Given the description of an element on the screen output the (x, y) to click on. 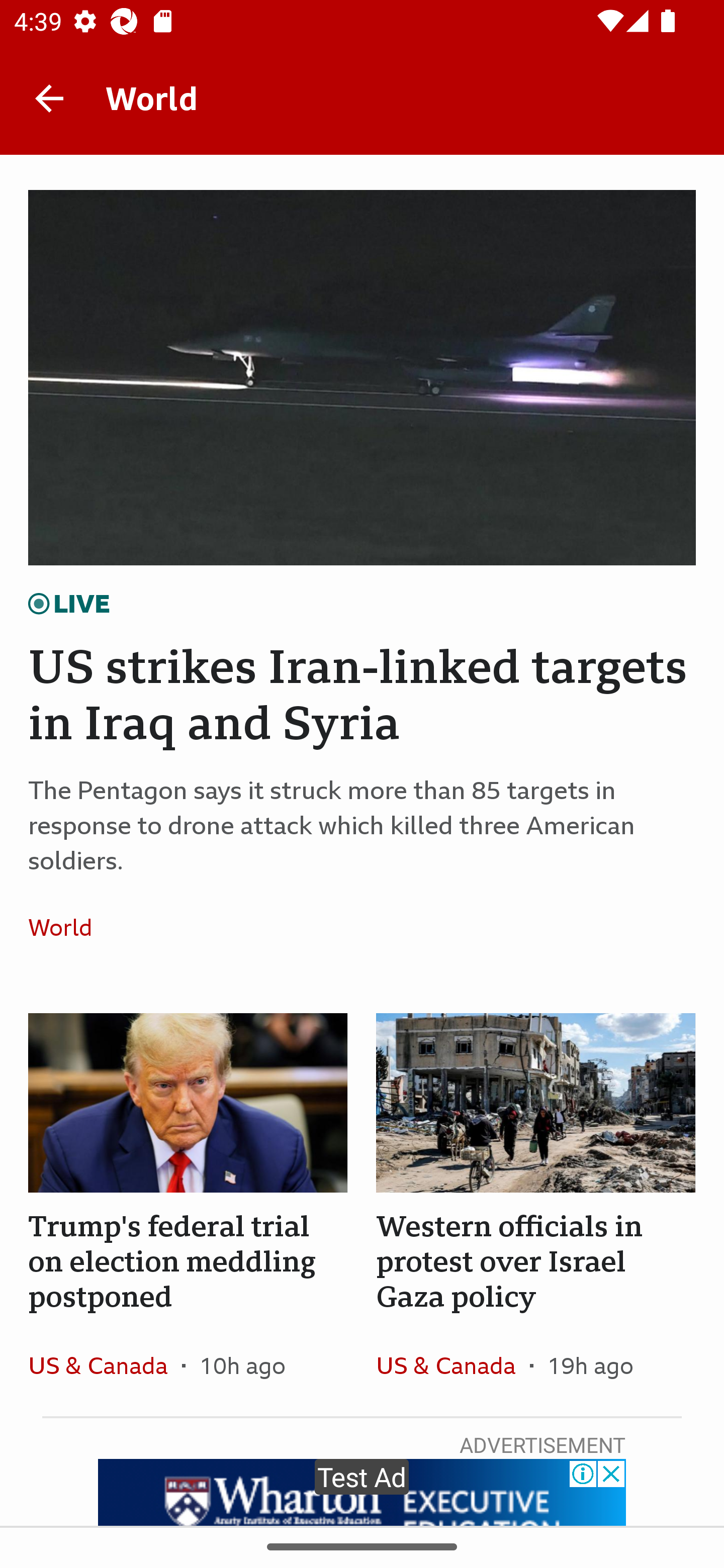
Back (49, 97)
World In the section World (67, 927)
US & Canada In the section US & Canada (104, 1364)
US & Canada In the section US & Canada (452, 1364)
Advertisement (361, 1491)
